Given the description of an element on the screen output the (x, y) to click on. 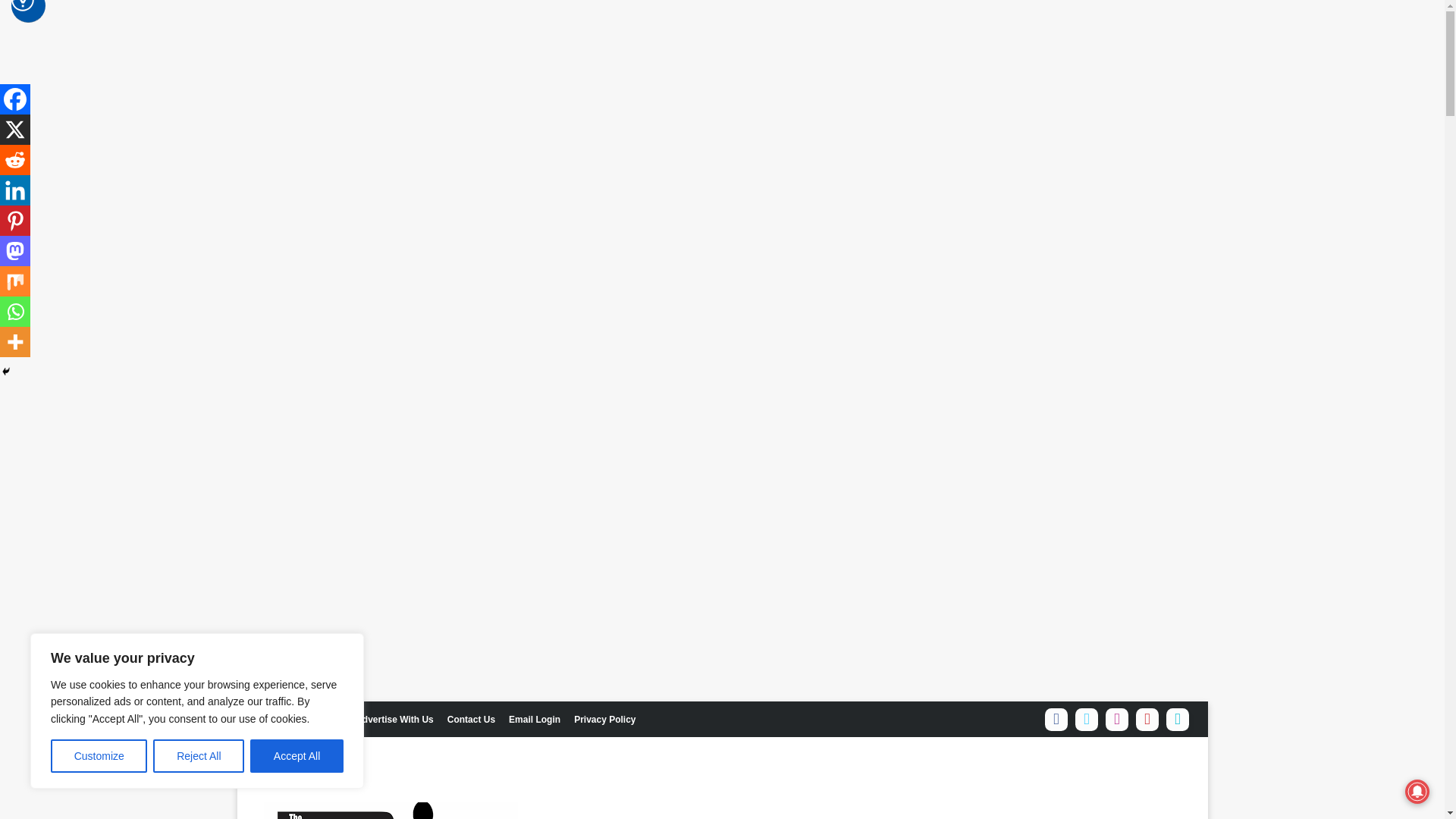
Advertise With Us (395, 719)
home (275, 719)
Reject All (198, 756)
contact us (471, 719)
check mail (534, 719)
Privacy Policy (604, 719)
Contact Us (471, 719)
Advertisement (878, 785)
Customize (98, 756)
Home (275, 719)
about us (322, 719)
About Us (322, 719)
